Given the description of an element on the screen output the (x, y) to click on. 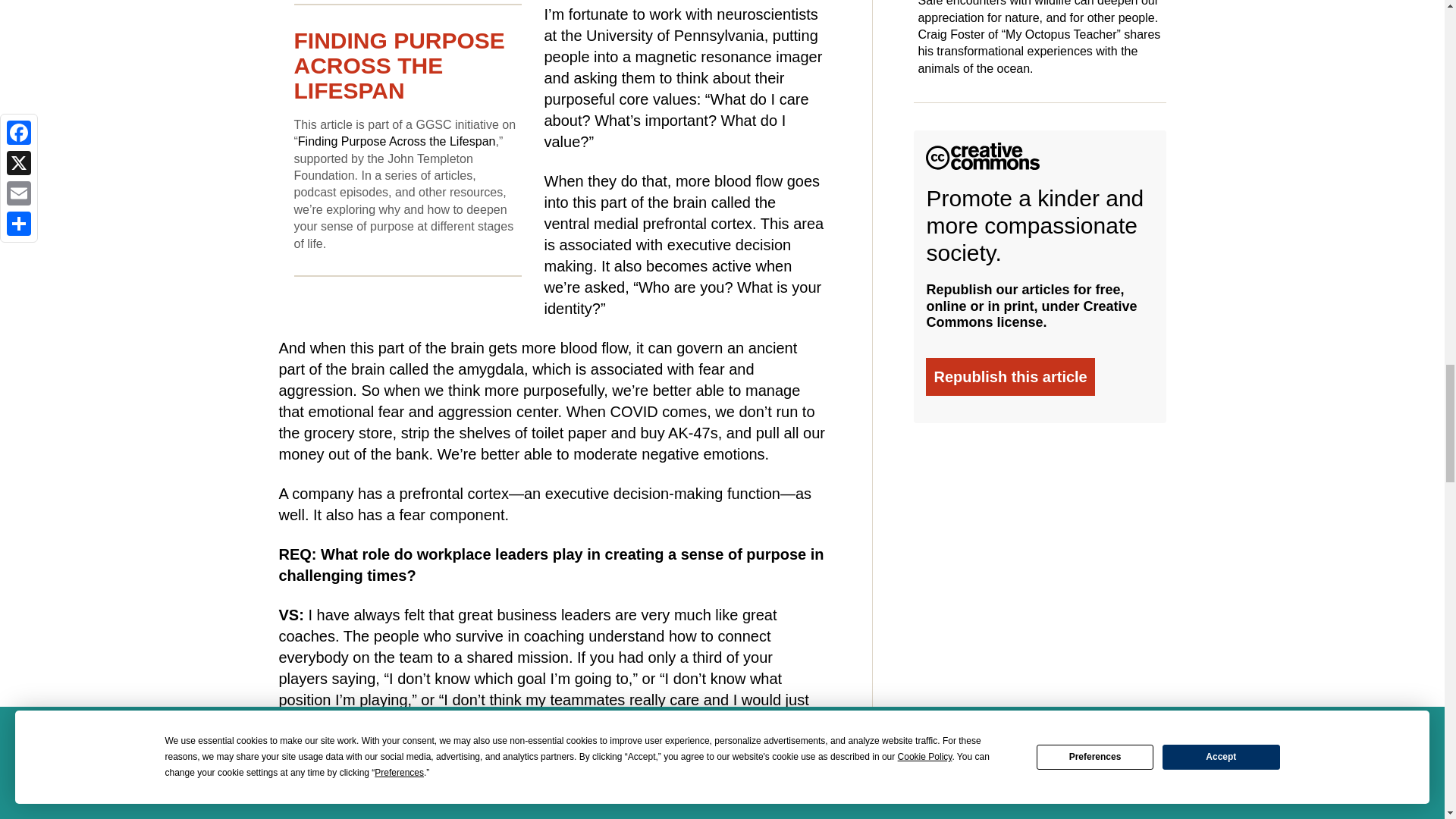
Republish this article (1010, 376)
